Given the description of an element on the screen output the (x, y) to click on. 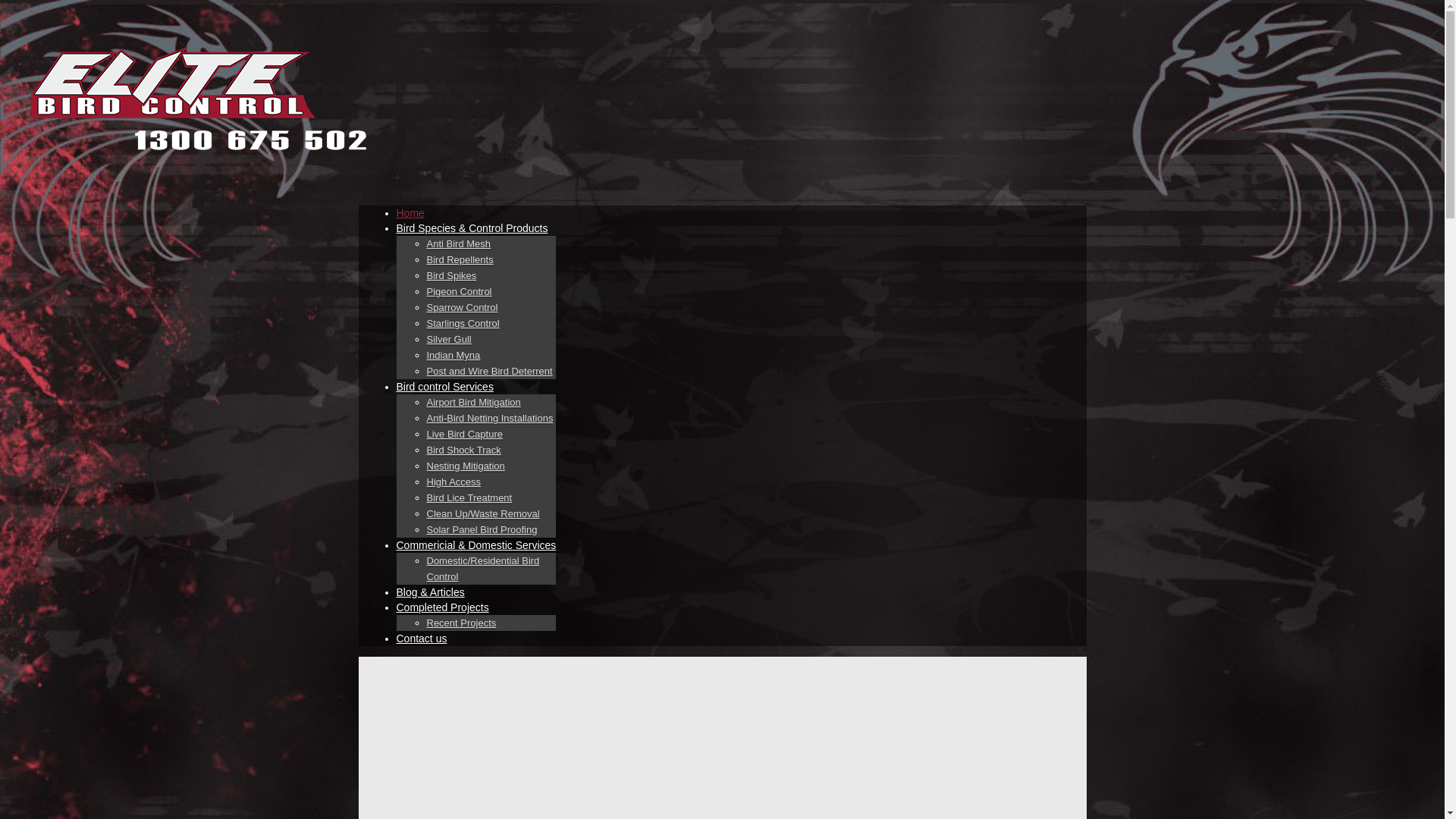
Clean Up/Waste Removal Element type: text (482, 514)
Recent Projects Element type: text (460, 623)
Home Element type: text (409, 213)
Solar Panel Bird Proofing Element type: text (481, 530)
Commericial & Domestic Services Element type: text (475, 545)
High Access Element type: text (453, 482)
Silver Gull Element type: text (448, 339)
Post and Wire Bird Deterrent Element type: text (489, 371)
Live Bird Capture Element type: text (464, 434)
Contact us Element type: text (420, 638)
Nesting Mitigation Element type: text (465, 466)
Domestic/Residential Bird Control Element type: text (482, 569)
Bird Spikes Element type: text (451, 275)
Anti Bird Mesh Element type: text (458, 244)
Bird control Services Element type: text (443, 386)
Anti-Bird Netting Installations Element type: text (489, 418)
Blog & Articles Element type: text (429, 592)
Bird Shock Track Element type: text (463, 450)
Completed Projects Element type: text (441, 607)
Starlings Control Element type: text (462, 323)
Bird Lice Treatment Element type: text (468, 498)
Sparrow Control Element type: text (461, 307)
Indian Myna Element type: text (453, 355)
Airport Bird Mitigation Element type: text (473, 402)
Bird Repellents Element type: text (459, 260)
Pigeon Control Element type: text (458, 291)
Bird Species & Control Products Element type: text (471, 228)
